Given the description of an element on the screen output the (x, y) to click on. 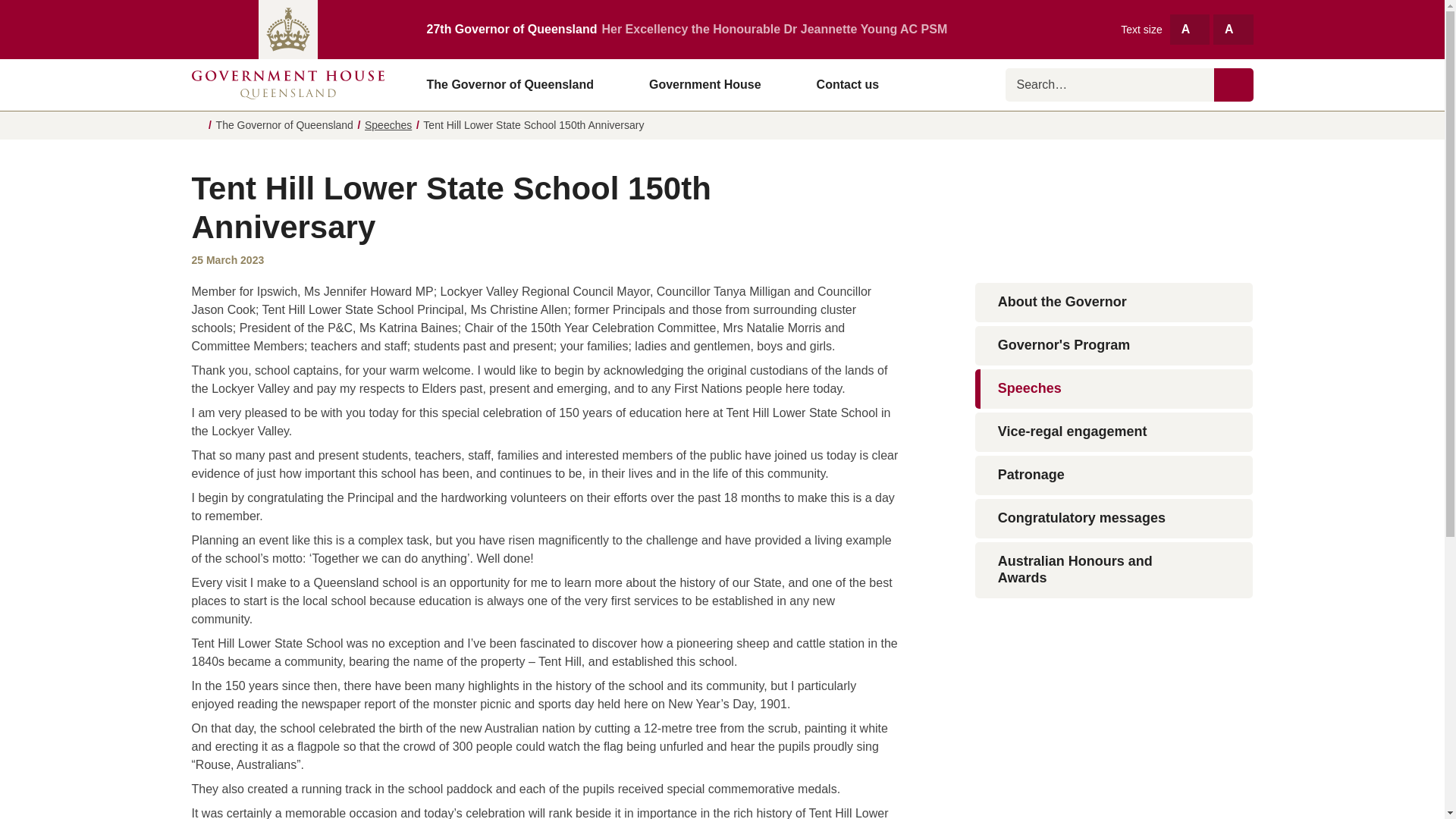
A (1189, 29)
Patronage (1114, 475)
Governor's Program (1114, 345)
Congratulatory messages (1114, 518)
Australian Honours and Awards (1114, 570)
Decrease text size (1232, 29)
Government House (711, 84)
A (1232, 29)
Speeches (1114, 388)
Government House Queensland (287, 84)
Speeches (388, 125)
Vice-regal engagement (1114, 432)
About the Governor (1114, 302)
Increase text size (1189, 29)
The Governor of Queensland (515, 84)
